Given the description of an element on the screen output the (x, y) to click on. 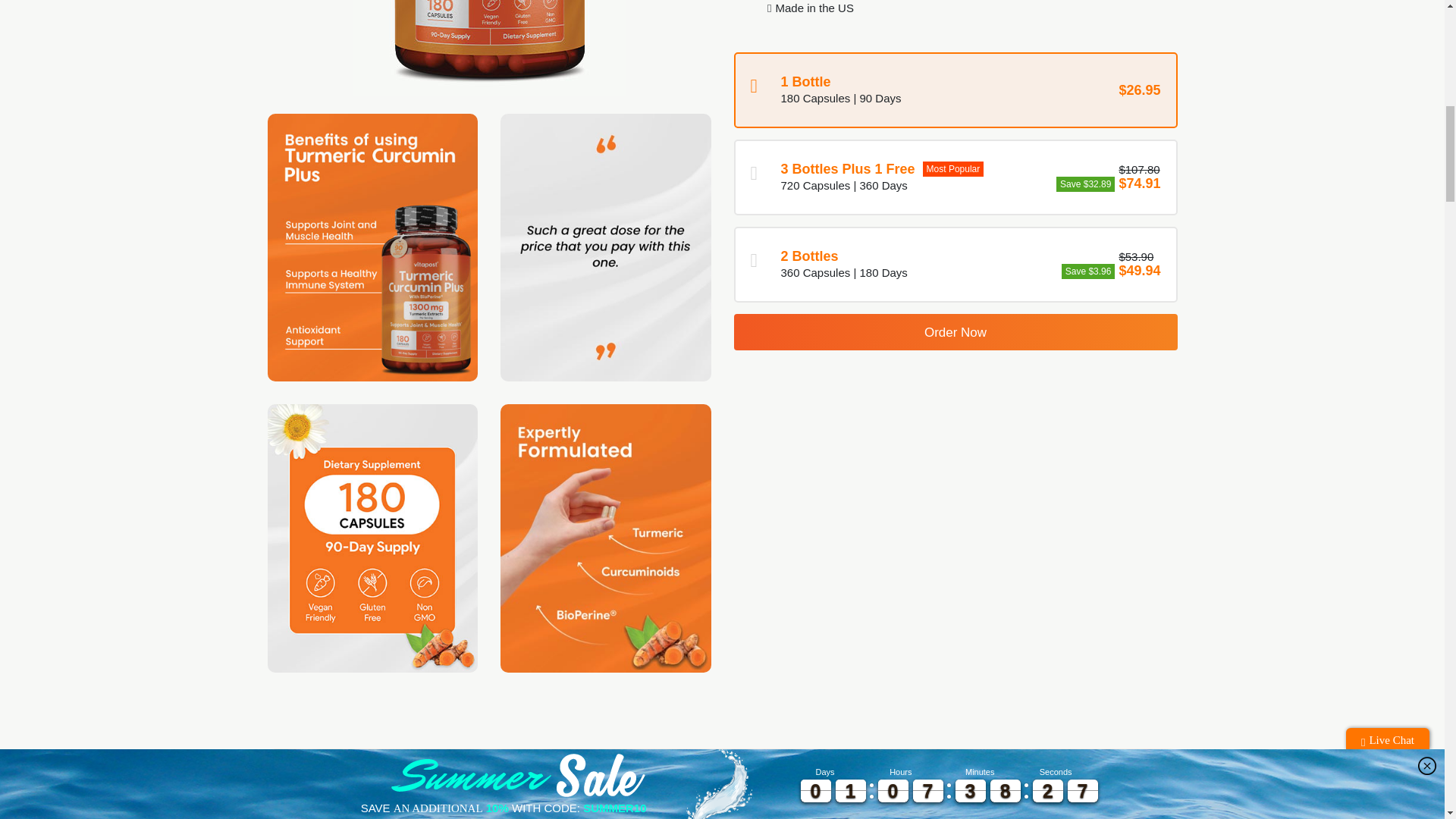
Order Now (955, 331)
